Given the description of an element on the screen output the (x, y) to click on. 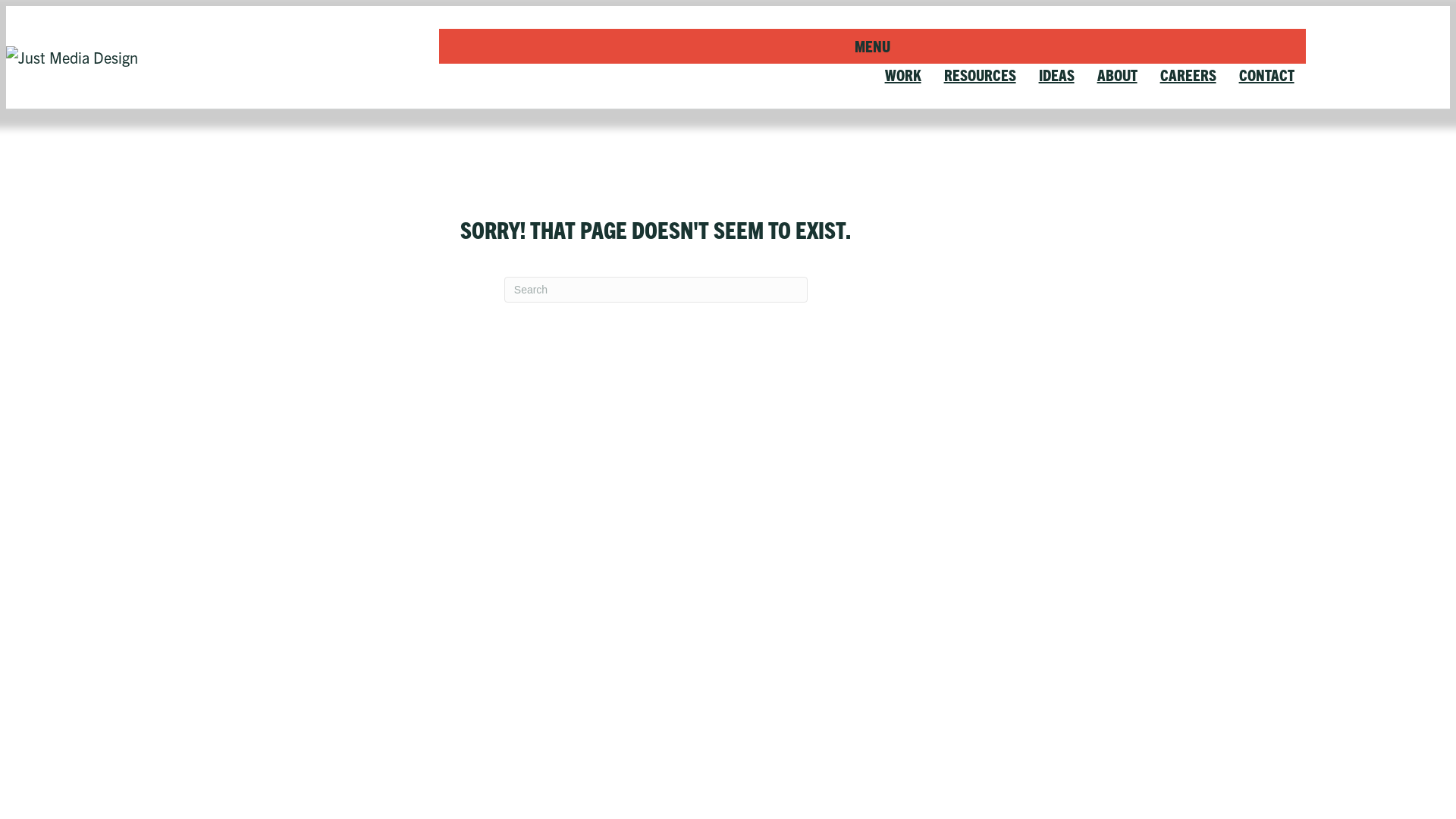
RESOURCES Element type: text (979, 74)
MENU Element type: text (872, 45)
IDEAS Element type: text (1056, 74)
WORK Element type: text (902, 74)
ABOUT Element type: text (1116, 74)
CAREERS Element type: text (1187, 74)
CONTACT Element type: text (1266, 74)
Type and press Enter to search. Element type: hover (655, 289)
